Given the description of an element on the screen output the (x, y) to click on. 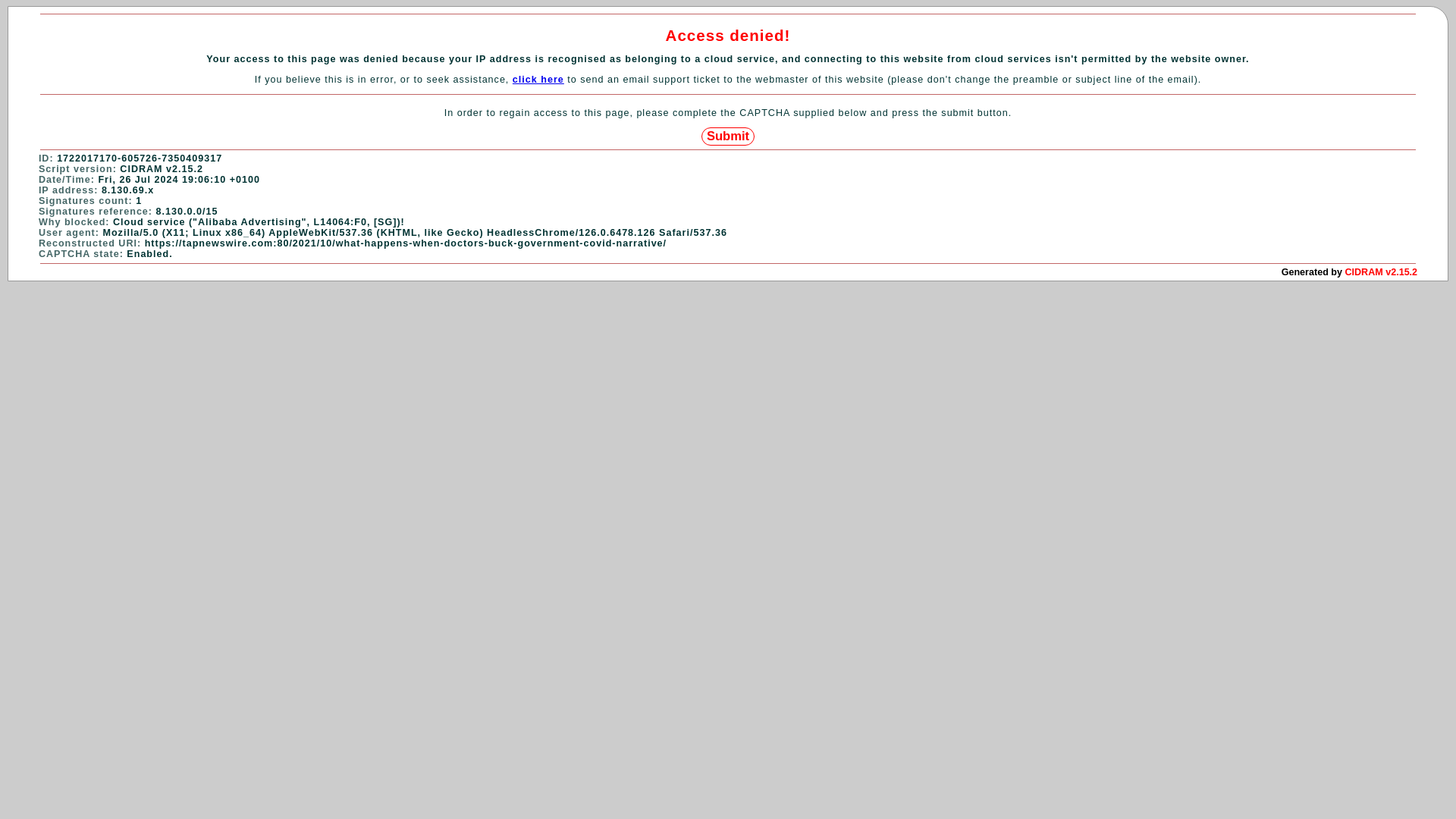
Submit (727, 136)
Submit (727, 136)
click here (538, 79)
